Given the description of an element on the screen output the (x, y) to click on. 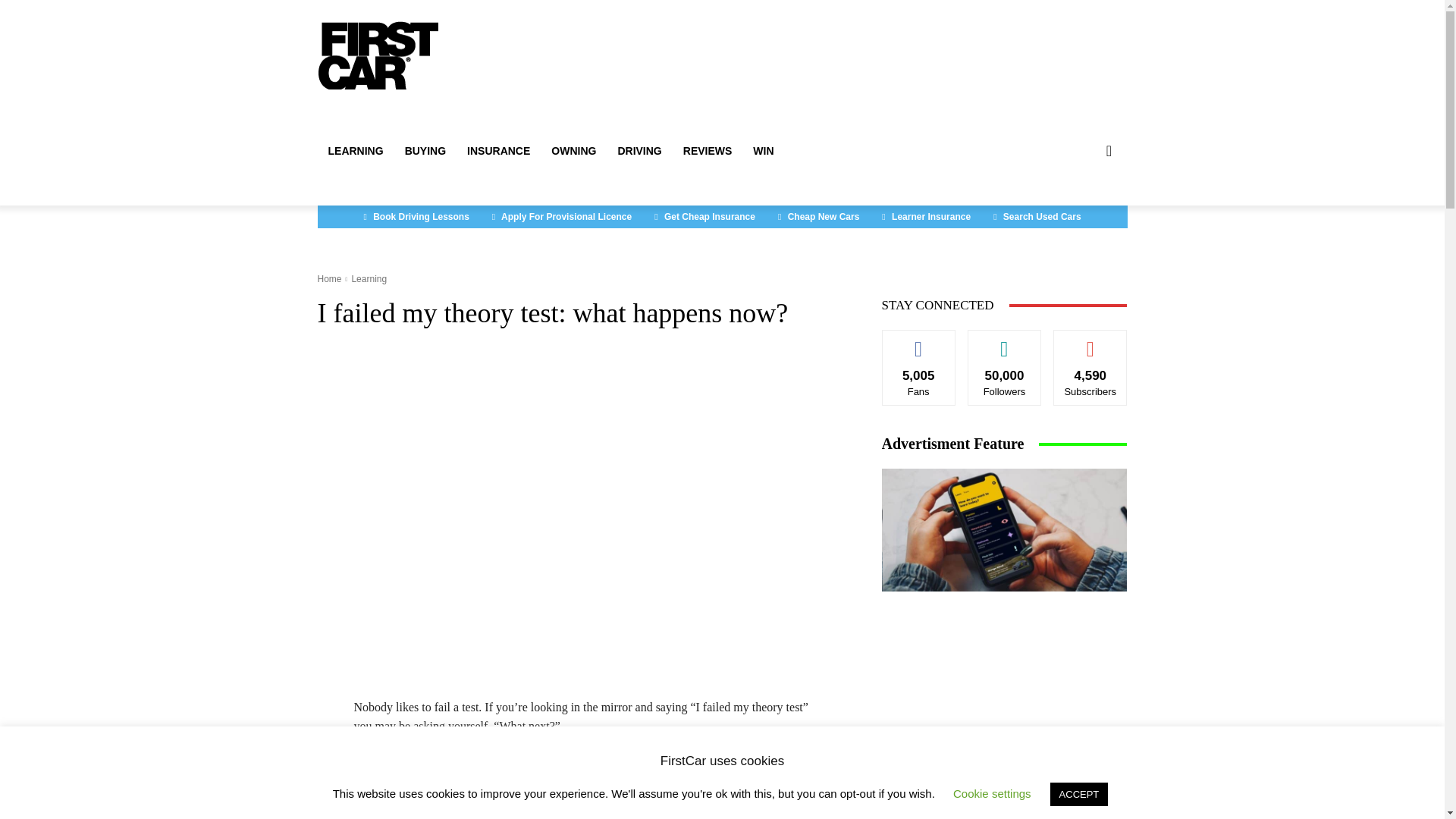
Book Driving Lessons (416, 216)
Apply For Provisional Licence (561, 216)
REVIEWS (707, 150)
LEARNING (355, 150)
View all posts in Learning (368, 278)
DRIVING (639, 150)
Learner Insurance (925, 216)
OWNING (573, 150)
Get Cheap Insurance (705, 216)
Search Used Cars (1036, 216)
